Given the description of an element on the screen output the (x, y) to click on. 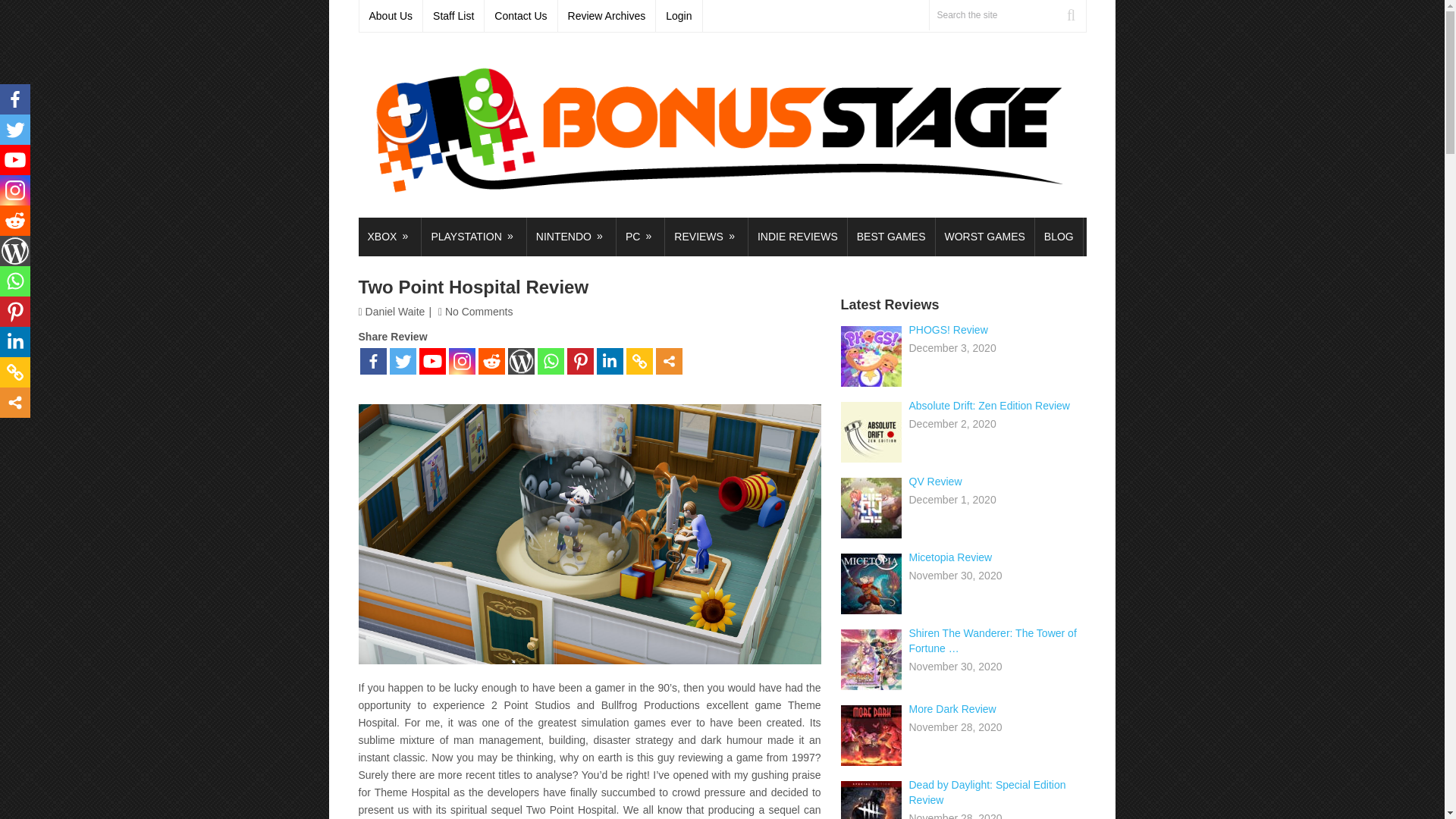
About Us (391, 15)
Staff List (453, 15)
NINTENDO (571, 236)
REVIEWS (706, 236)
PC (639, 236)
Review Archives (606, 15)
XBOX (389, 236)
Contact Us (520, 15)
PLAYSTATION (473, 236)
Login (678, 15)
